Given the description of an element on the screen output the (x, y) to click on. 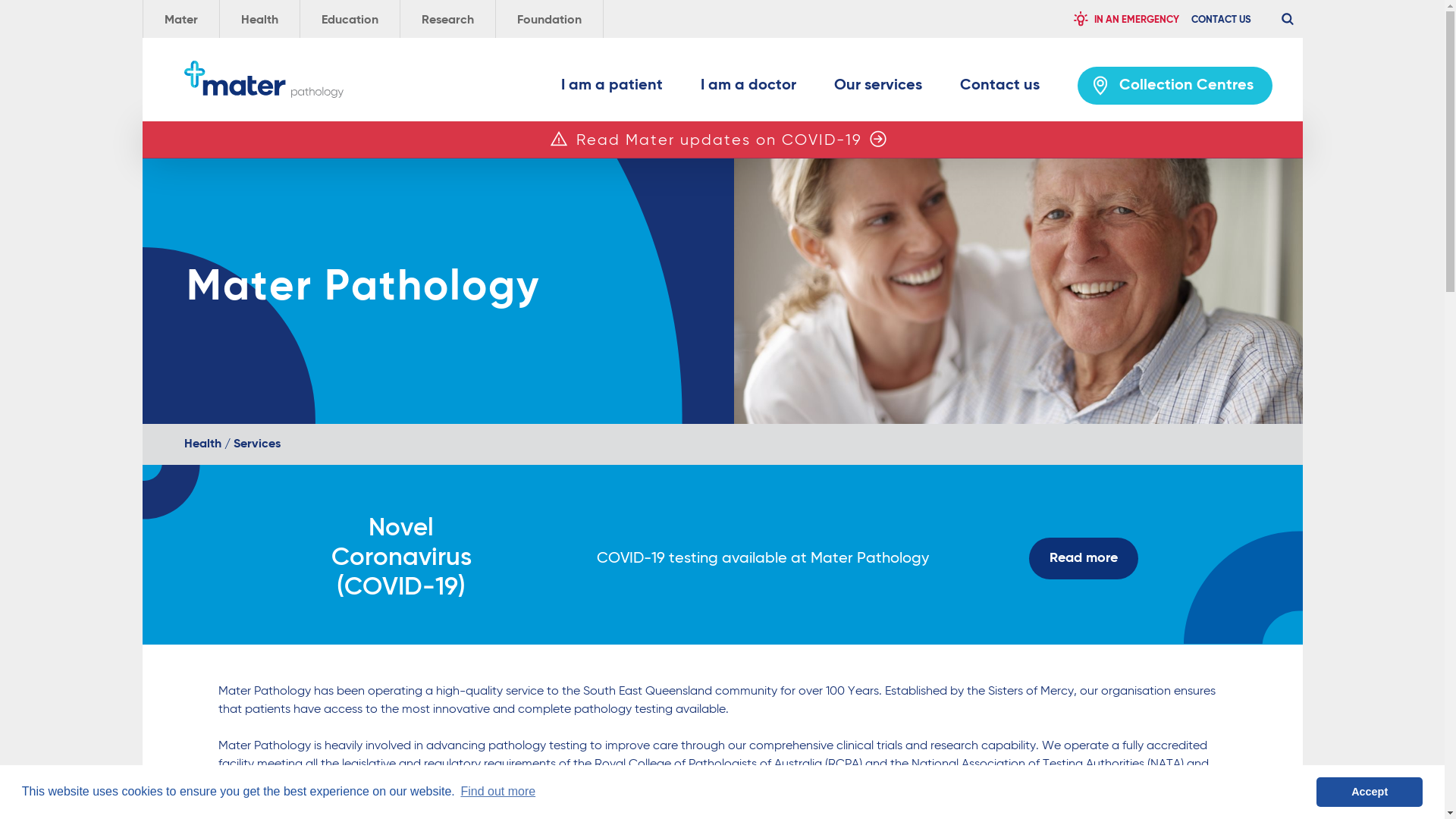
Find out more Element type: text (497, 791)
Services Element type: text (256, 444)
Health Element type: text (201, 444)
Read Mater updates on COVID-19 Element type: text (719, 140)
Foundation Element type: text (548, 18)
IN AN EMERGENCY Element type: text (1124, 18)
Our services Element type: text (878, 89)
Health Element type: text (259, 18)
Contact us Element type: text (999, 89)
Mater Pathology Element type: hover (262, 78)
Accept Element type: text (1369, 791)
Read more Element type: text (1083, 558)
I am a doctor Element type: text (748, 89)
Research Element type: text (447, 18)
Education Element type: text (349, 18)
Collection Centres Element type: text (1173, 85)
CONTACT US Element type: text (1220, 18)
I am a patient Element type: text (611, 89)
Mater Element type: text (180, 18)
